Given the description of an element on the screen output the (x, y) to click on. 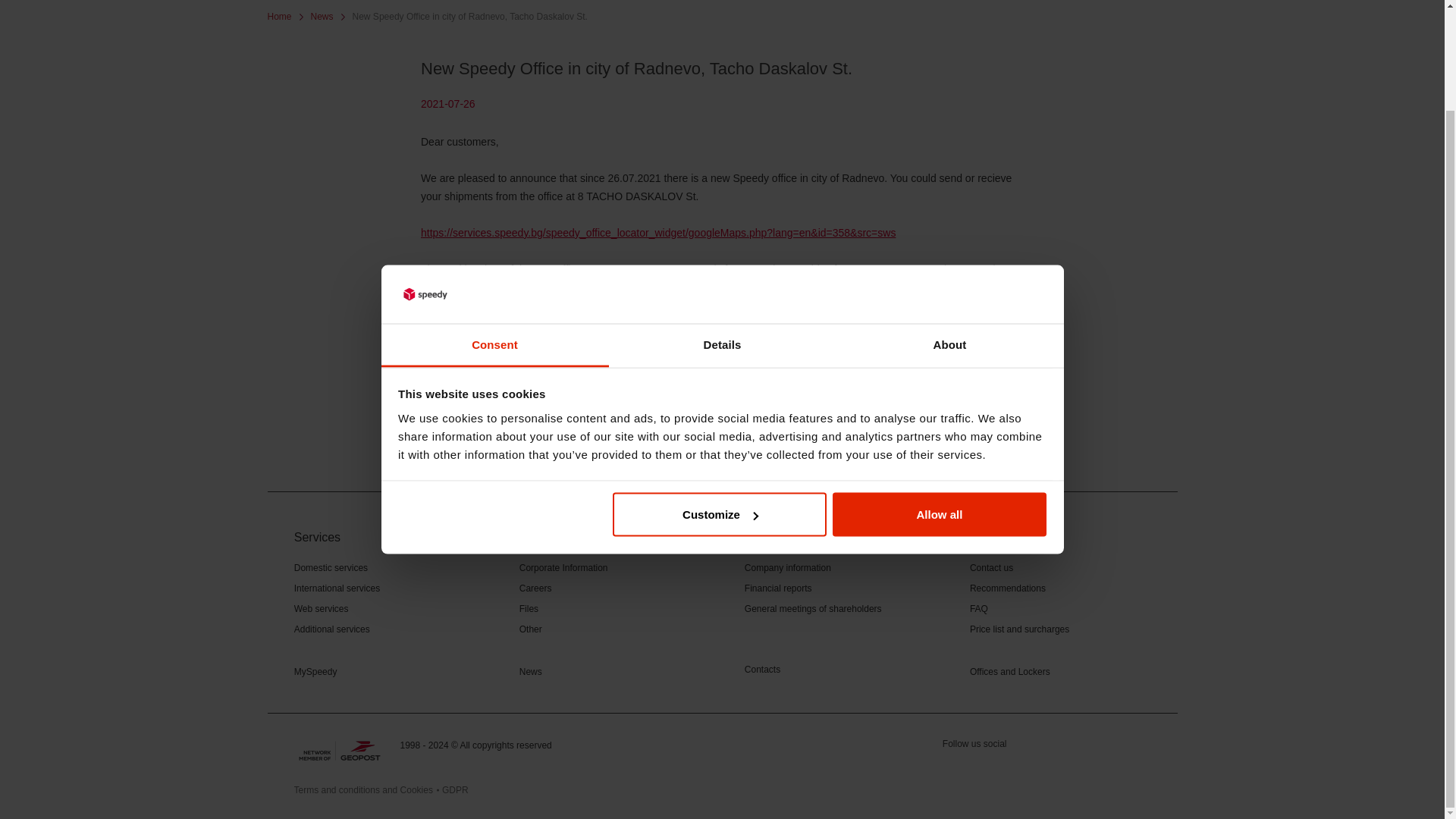
Allow all (939, 397)
Customize (719, 397)
Consent (494, 228)
Details (721, 228)
About (948, 228)
